Given the description of an element on the screen output the (x, y) to click on. 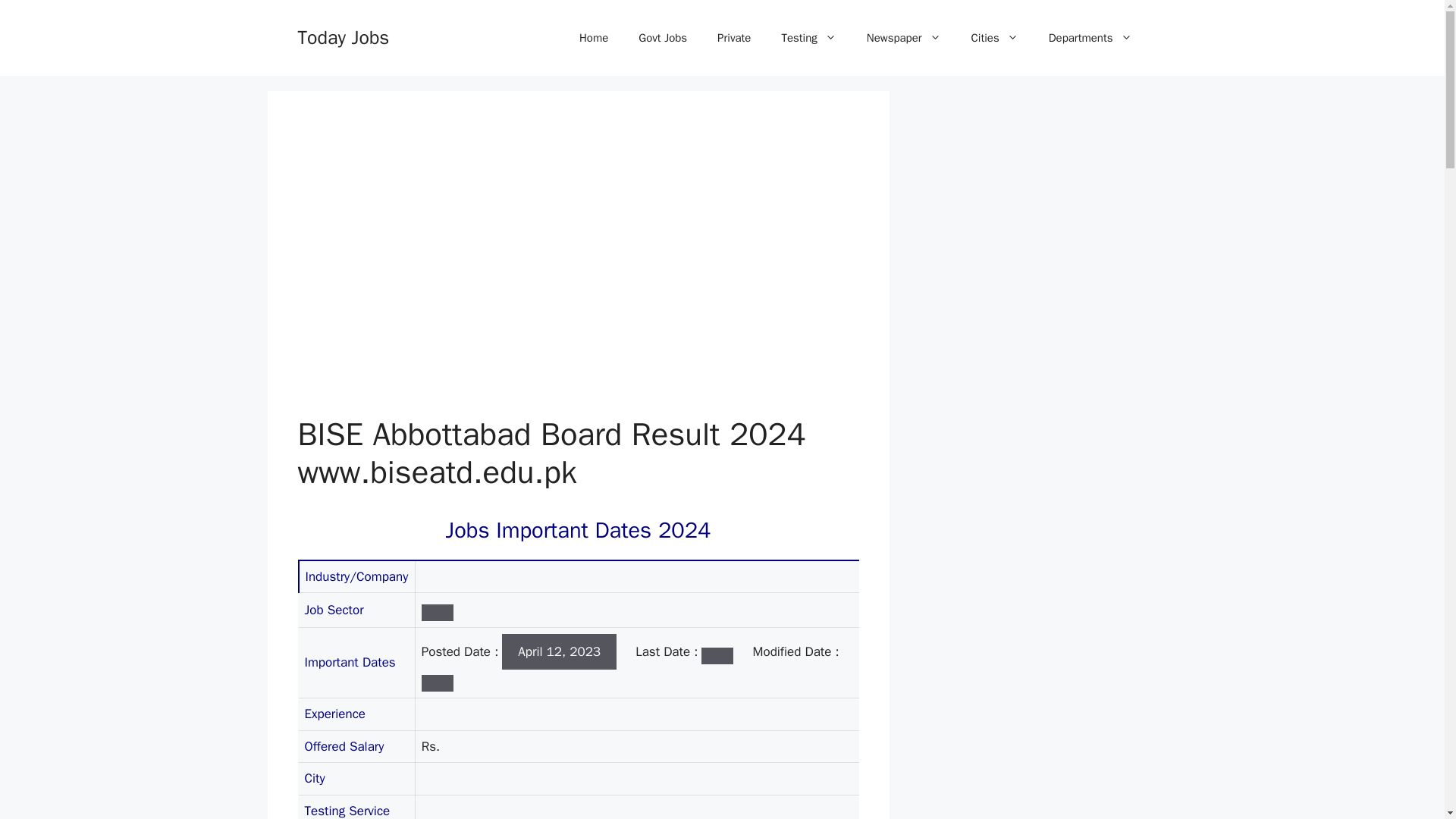
Private (733, 37)
Testing (807, 37)
Newspaper (903, 37)
Home (593, 37)
Cities (994, 37)
Home (593, 37)
Today Jobs (342, 37)
Departments (1090, 37)
Govt Jobs (662, 37)
